Given the description of an element on the screen output the (x, y) to click on. 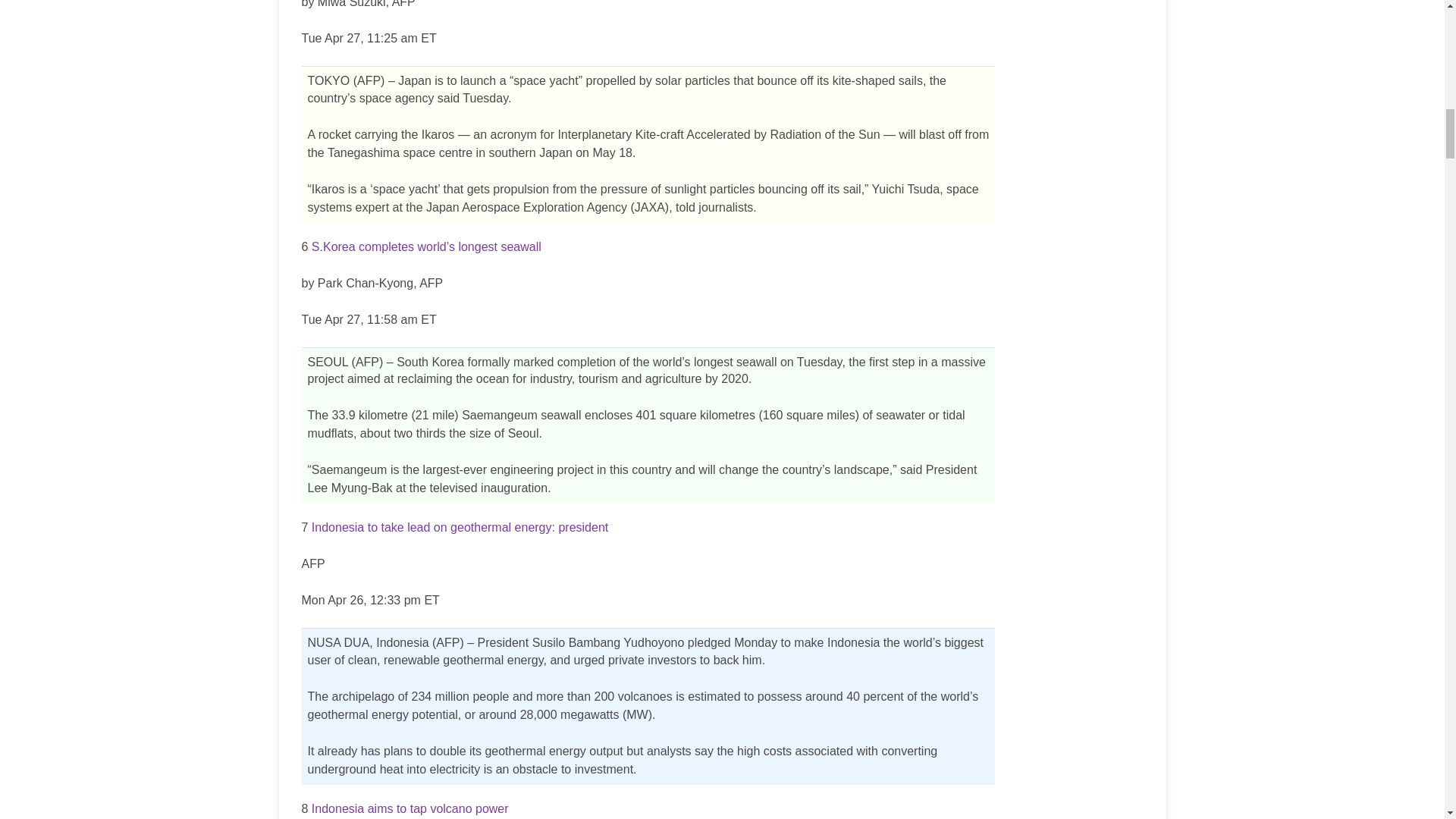
Indonesia to take lead on geothermal energy: president (459, 526)
Indonesia aims to tap volcano power (409, 808)
